Given the description of an element on the screen output the (x, y) to click on. 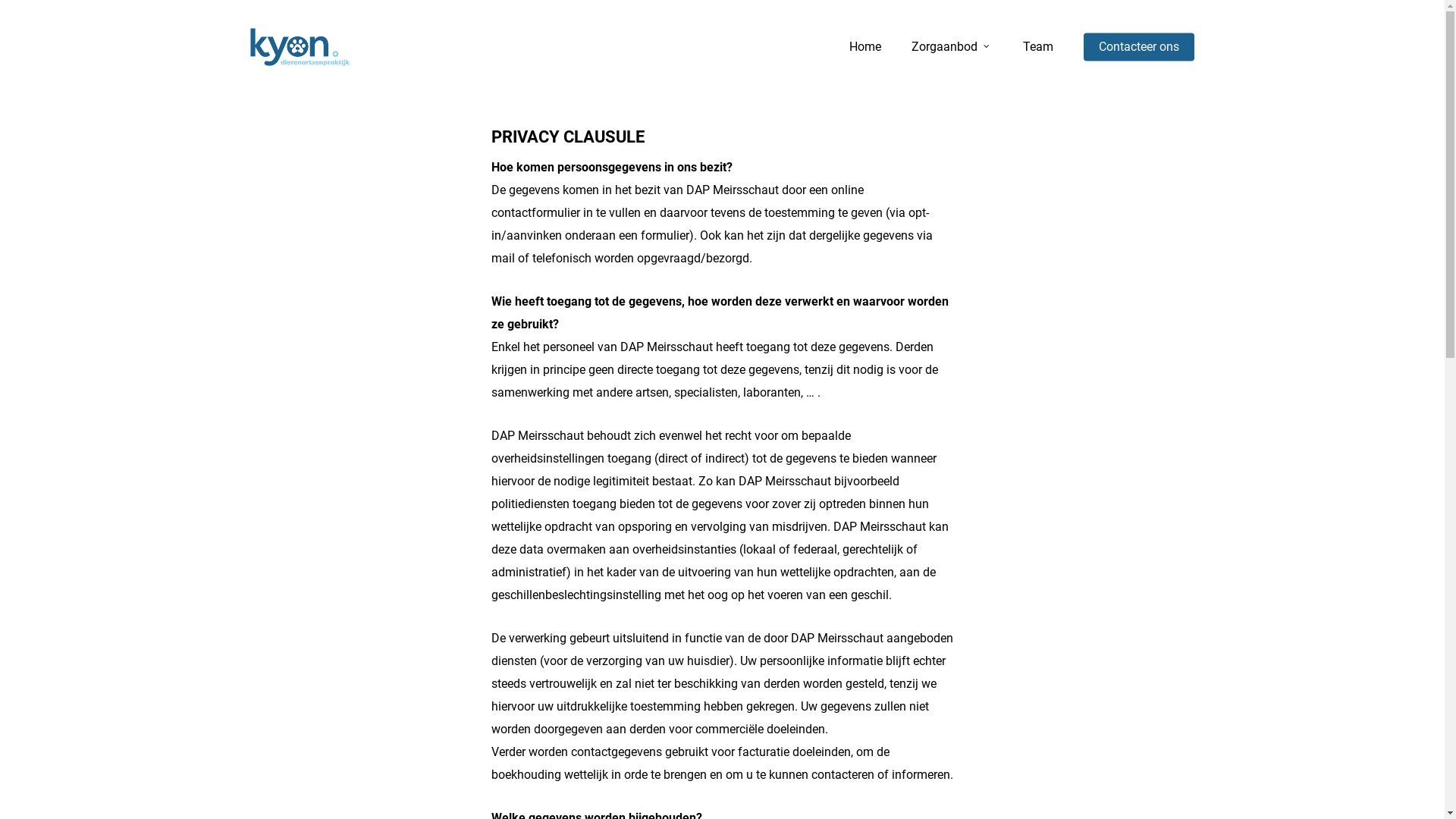
Team Element type: text (1037, 46)
Home Element type: text (865, 46)
Zorgaanbod Element type: text (951, 46)
Contacteer ons Element type: text (1138, 46)
